Given the description of an element on the screen output the (x, y) to click on. 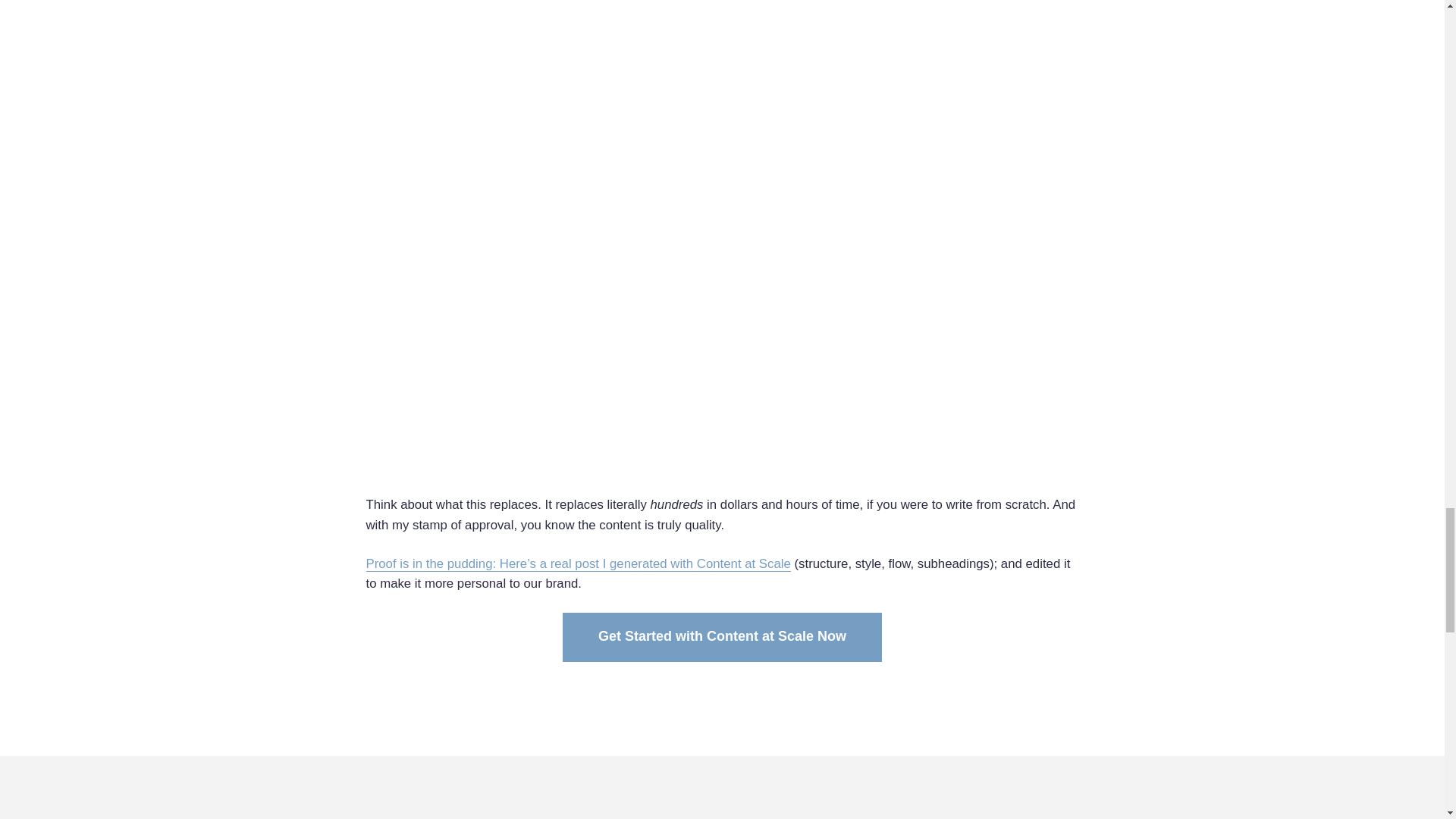
Get Started with Content at Scale Now (722, 636)
